Given the description of an element on the screen output the (x, y) to click on. 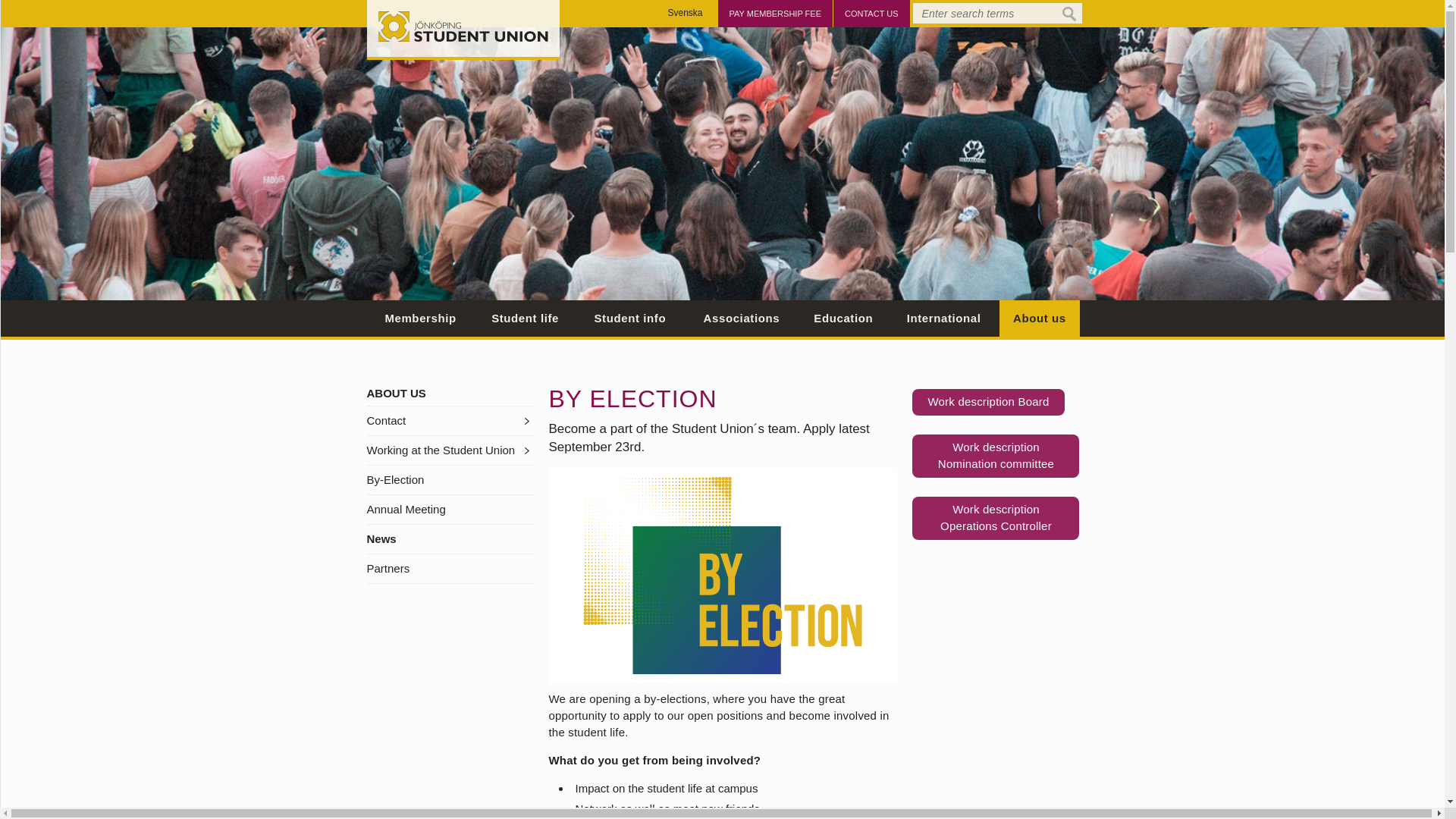
Membership (420, 318)
CONTACT US (995, 455)
Education (871, 13)
International (843, 318)
Svenska (774, 13)
About us (943, 318)
Associations (685, 12)
Student info (1038, 318)
Student life (740, 318)
